Given the description of an element on the screen output the (x, y) to click on. 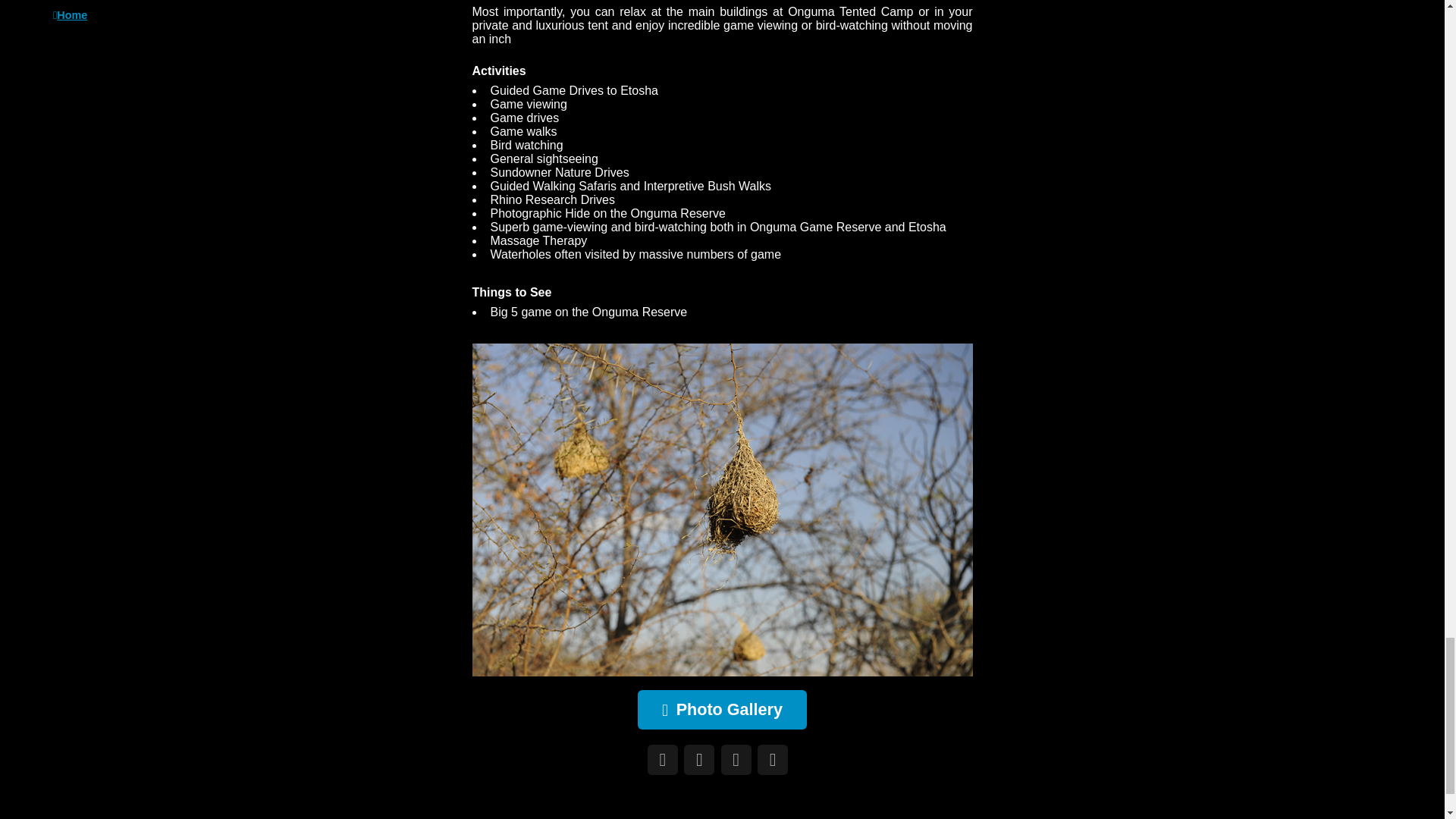
Photo Gallery (722, 709)
